Given the description of an element on the screen output the (x, y) to click on. 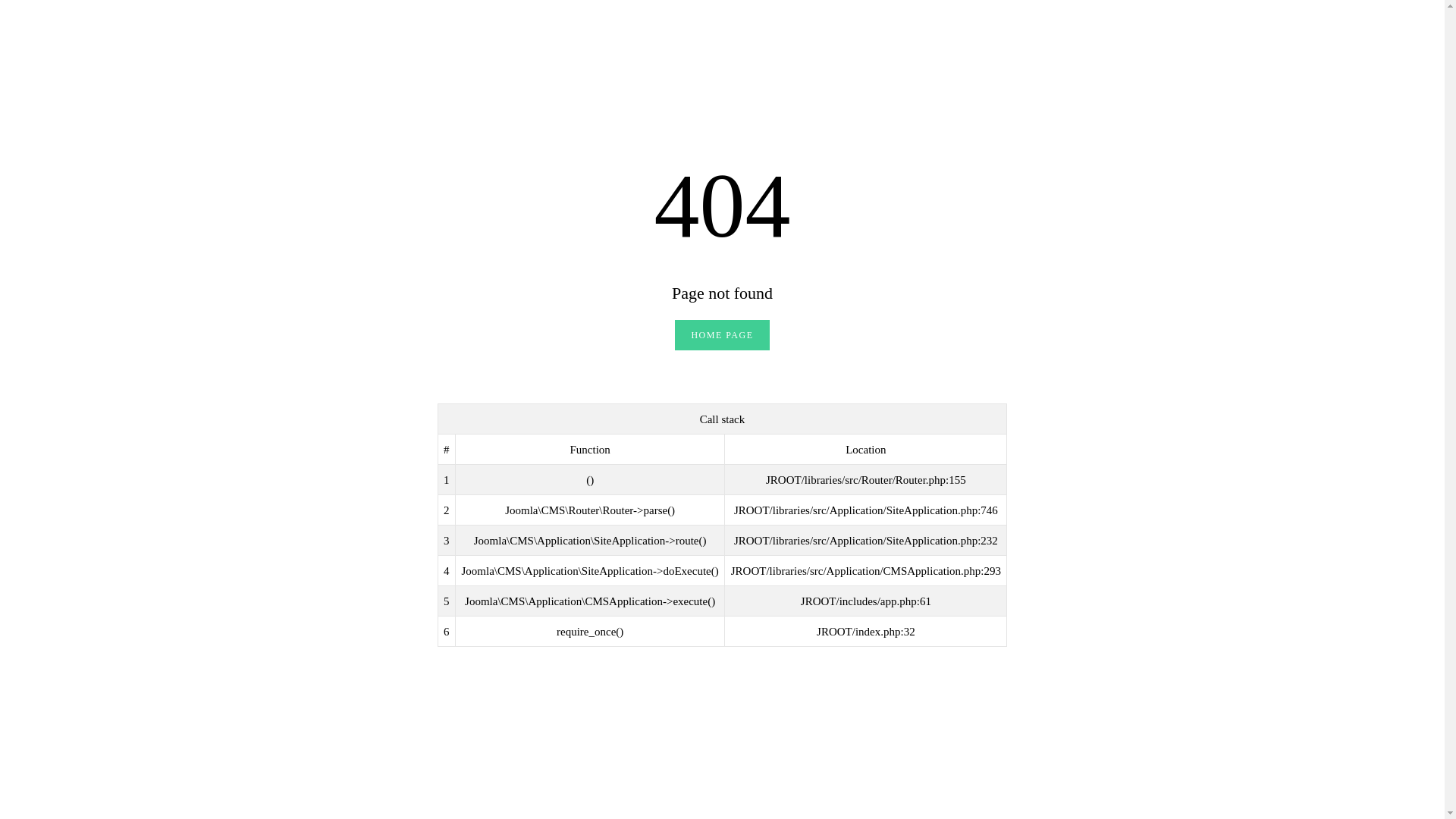
HOME PAGE (721, 335)
